Given the description of an element on the screen output the (x, y) to click on. 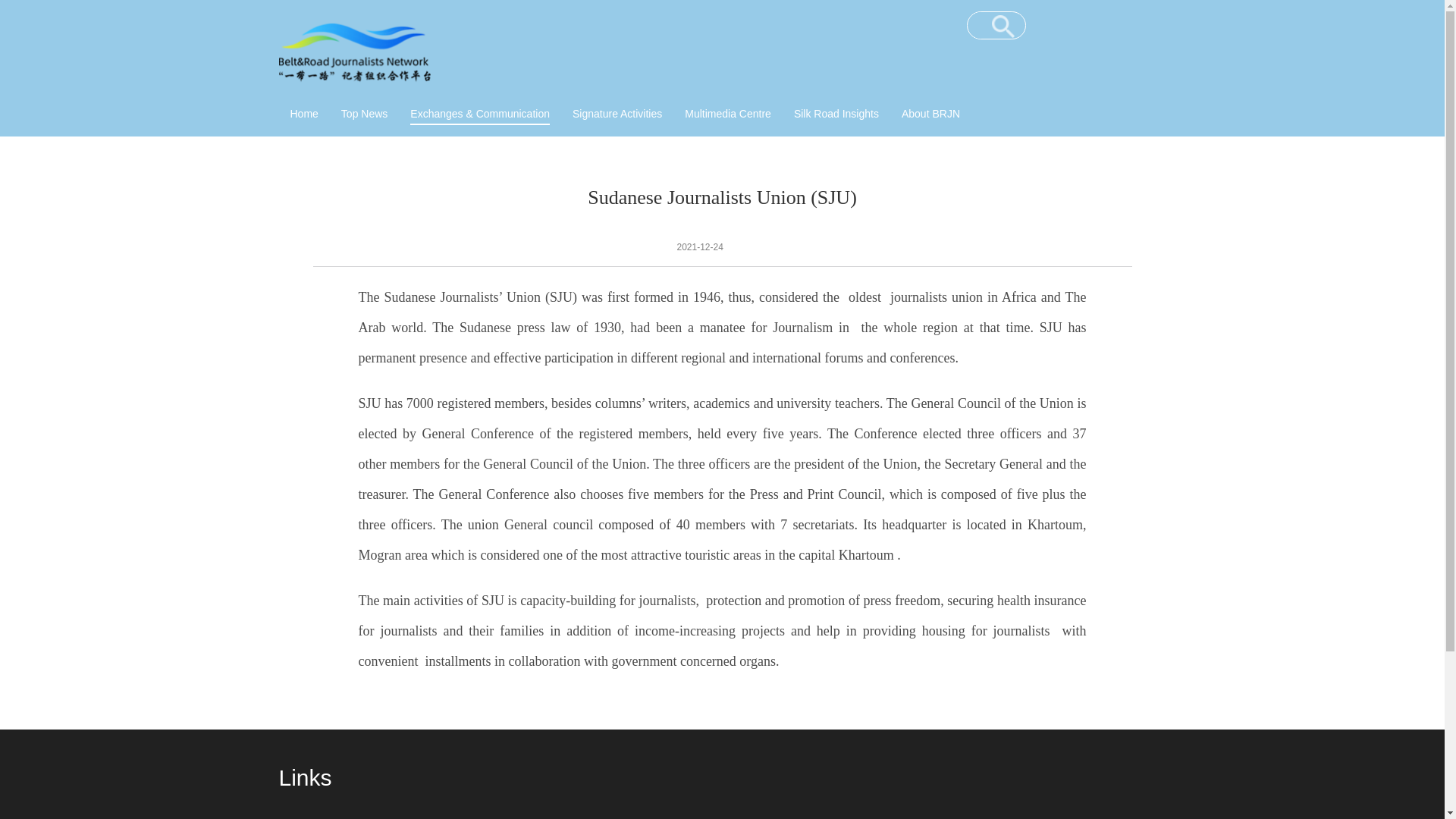
Signature Activities (617, 113)
Top News (363, 113)
Home (303, 113)
Silk Road Insights (836, 113)
About BRJN (930, 113)
Multimedia Centre (727, 113)
